Given the description of an element on the screen output the (x, y) to click on. 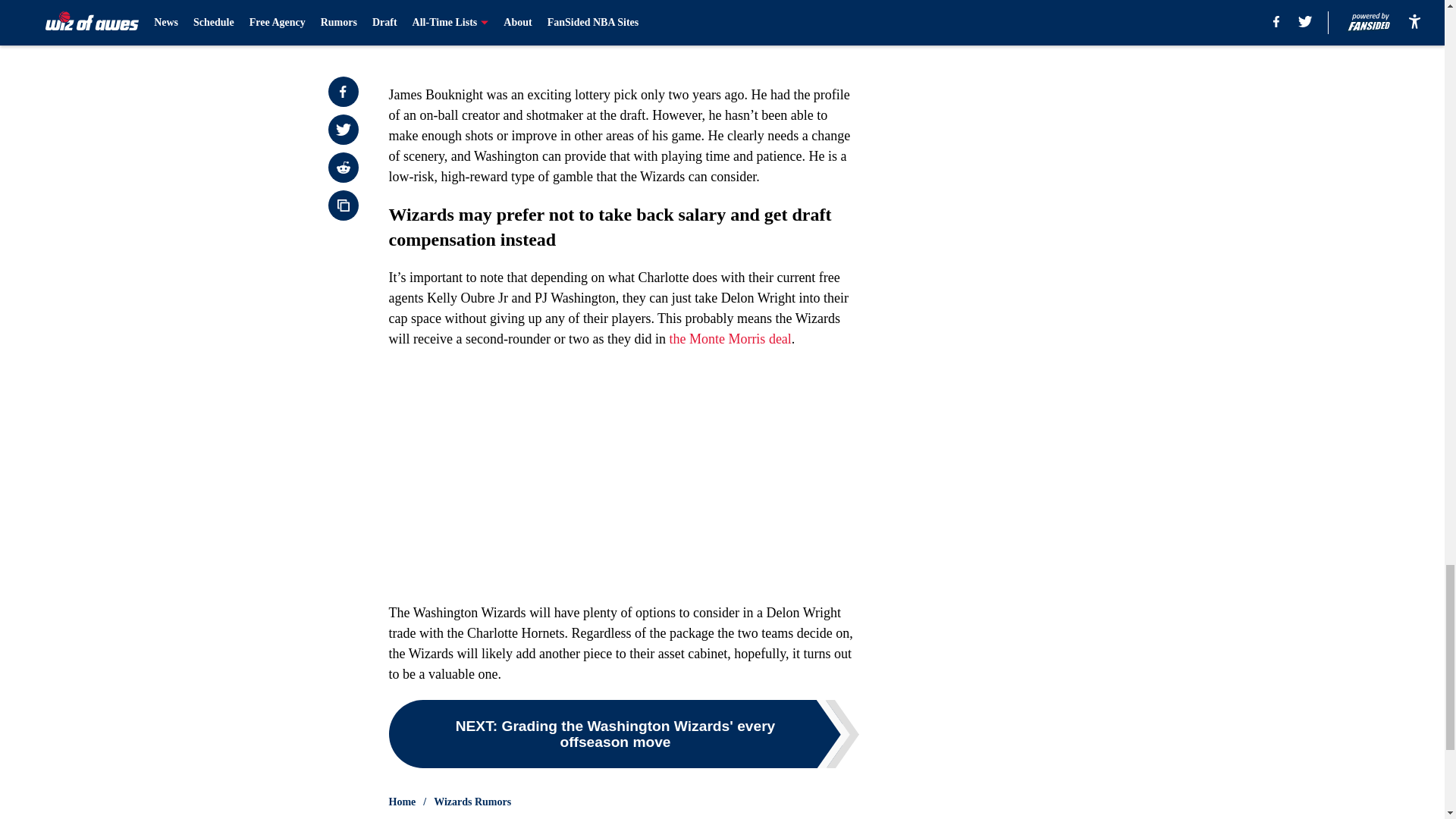
the Monte Morris deal (729, 338)
Wizards Rumors (472, 801)
Home (401, 801)
NEXT: Grading the Washington Wizards' every offseason move (623, 734)
